Given the description of an element on the screen output the (x, y) to click on. 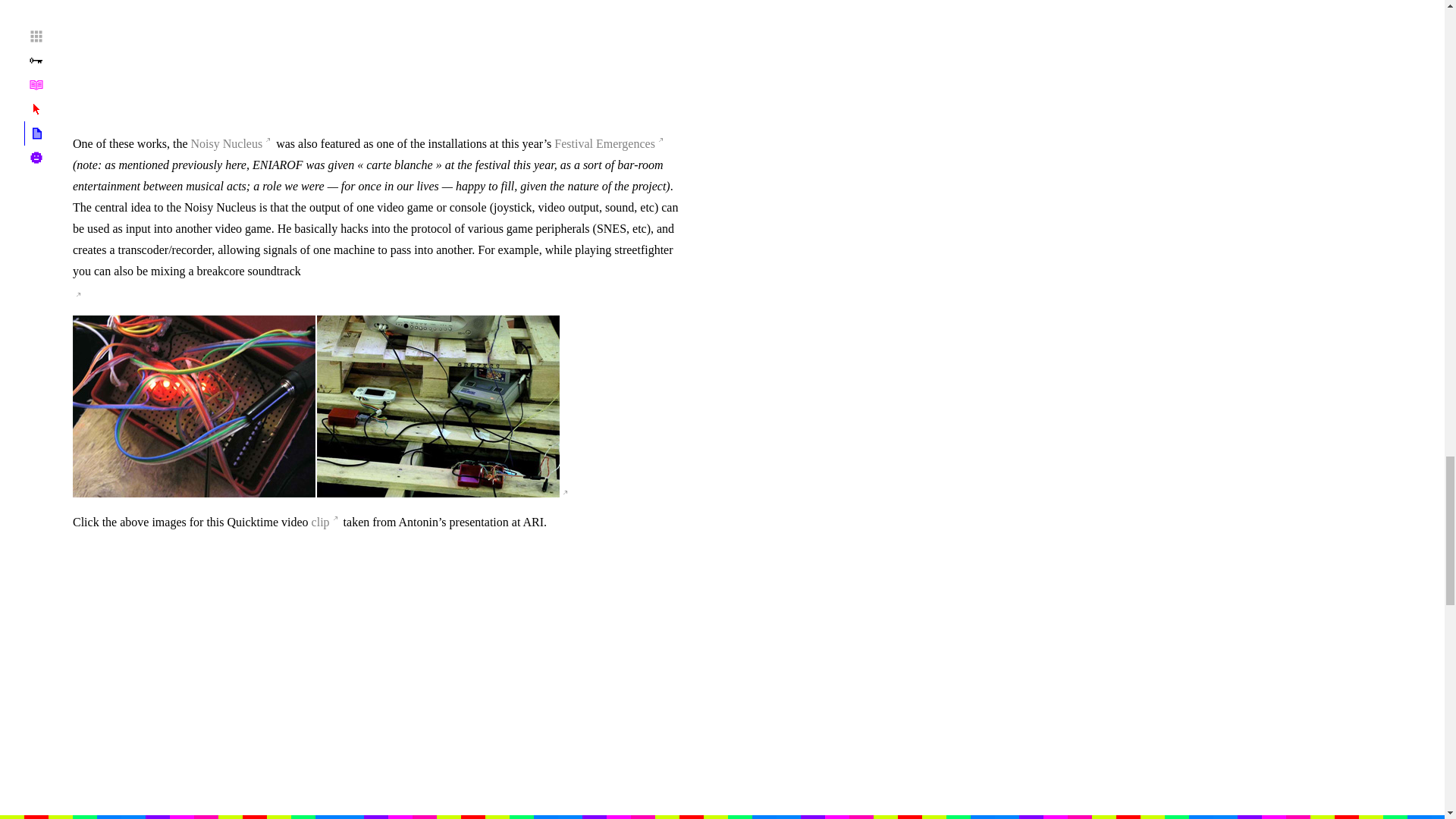
Festival Emergences (609, 143)
Antonin Fourneau, Noisy Nucleus (315, 406)
Noisy Nucleus (232, 143)
